Given the description of an element on the screen output the (x, y) to click on. 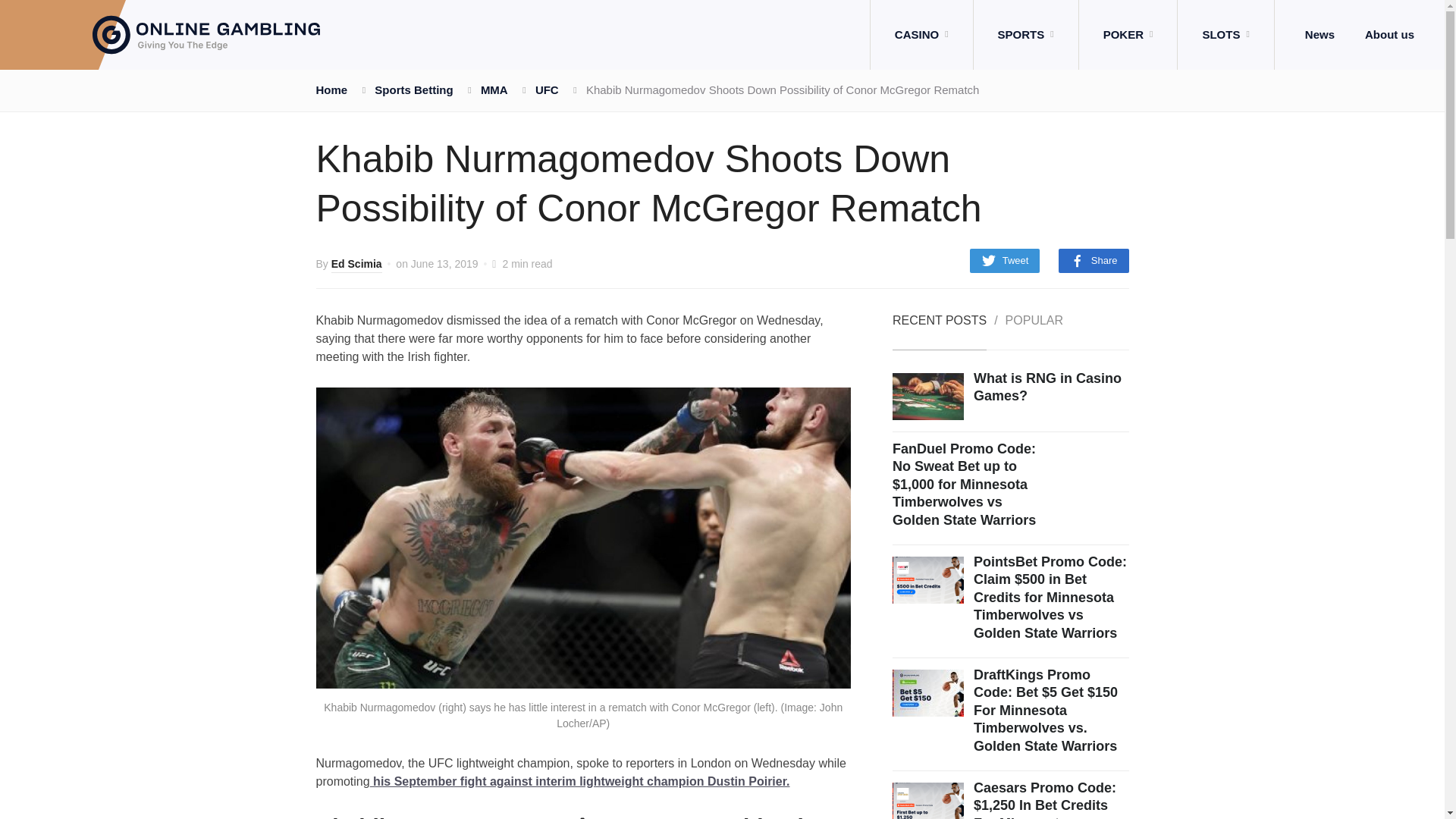
CASINO (921, 34)
Popular (1034, 331)
Posts by Ed Scimia (356, 264)
Share this on Facebook (1093, 260)
Recent Posts (939, 331)
Tweet this on Twitter (1005, 260)
